Given the description of an element on the screen output the (x, y) to click on. 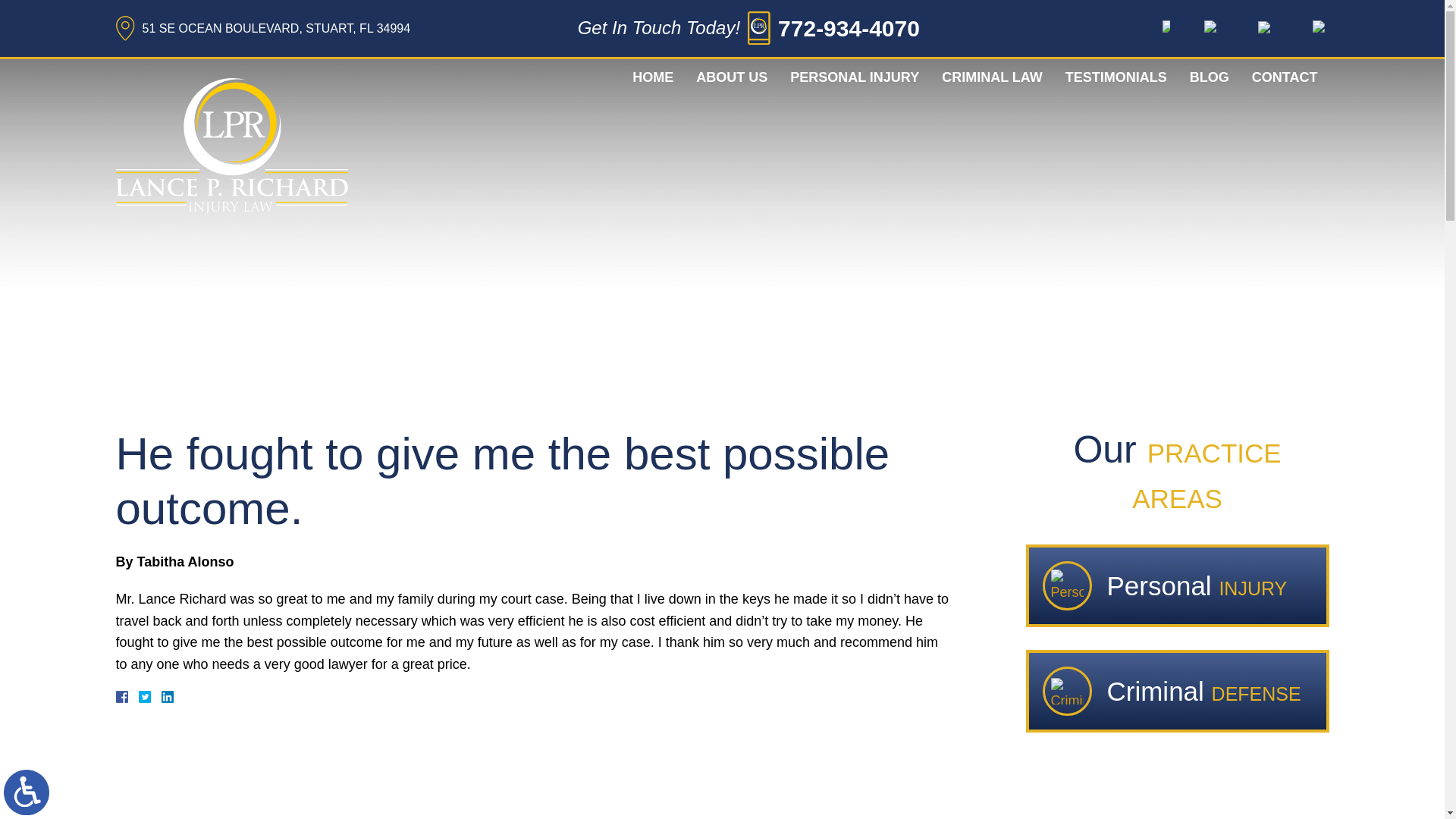
Facebook (139, 696)
HOME (652, 76)
772-934-4070 (848, 28)
Switch to ADA Accessible Theme (26, 791)
51 SE OCEAN BOULEVARD, STUART, FL 34994 (262, 27)
LinkedIn (160, 696)
PERSONAL INJURY (854, 76)
ABOUT US (731, 76)
Twitter (149, 696)
